Given the description of an element on the screen output the (x, y) to click on. 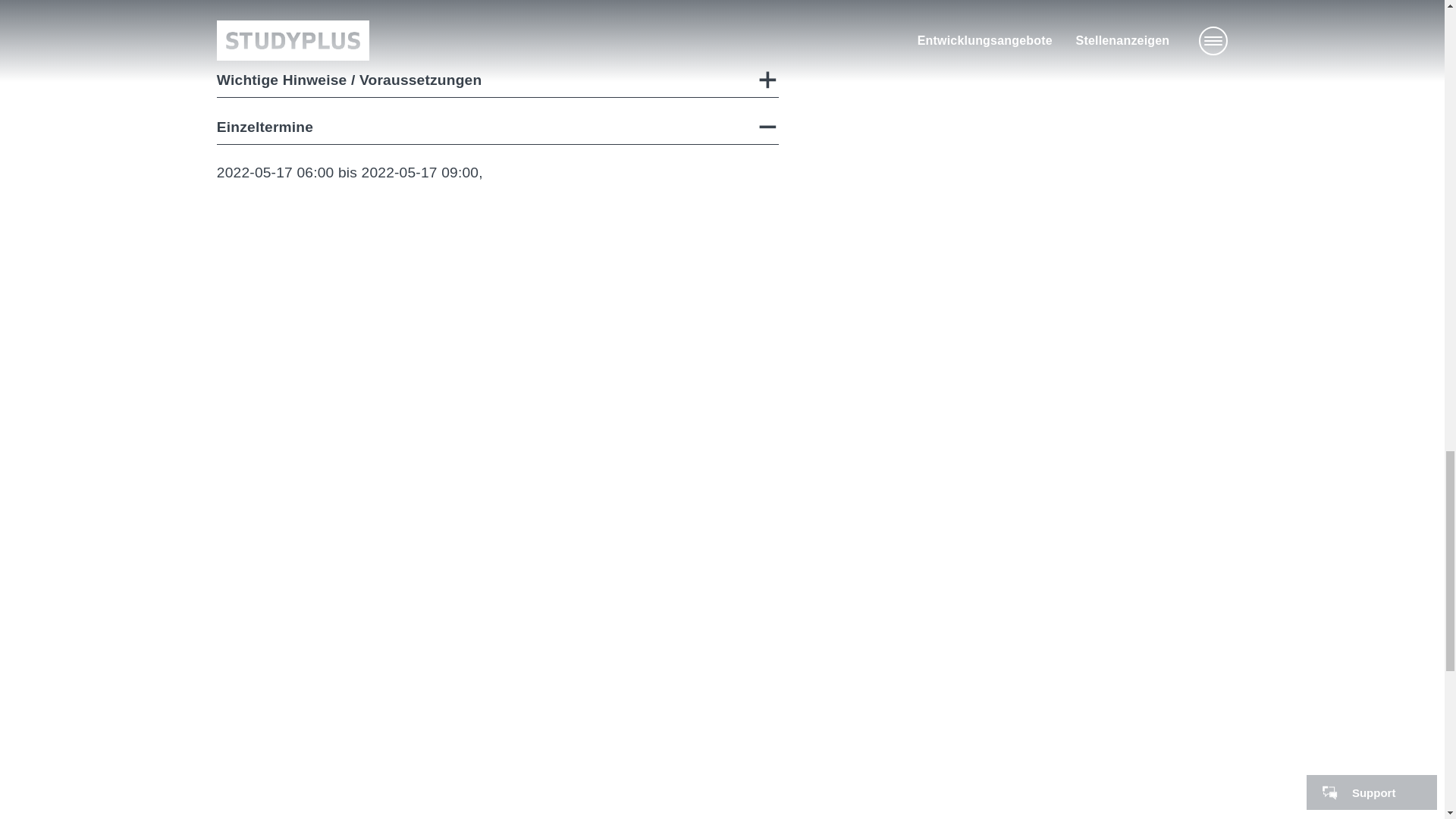
Einzeltermine (497, 126)
